Given the description of an element on the screen output the (x, y) to click on. 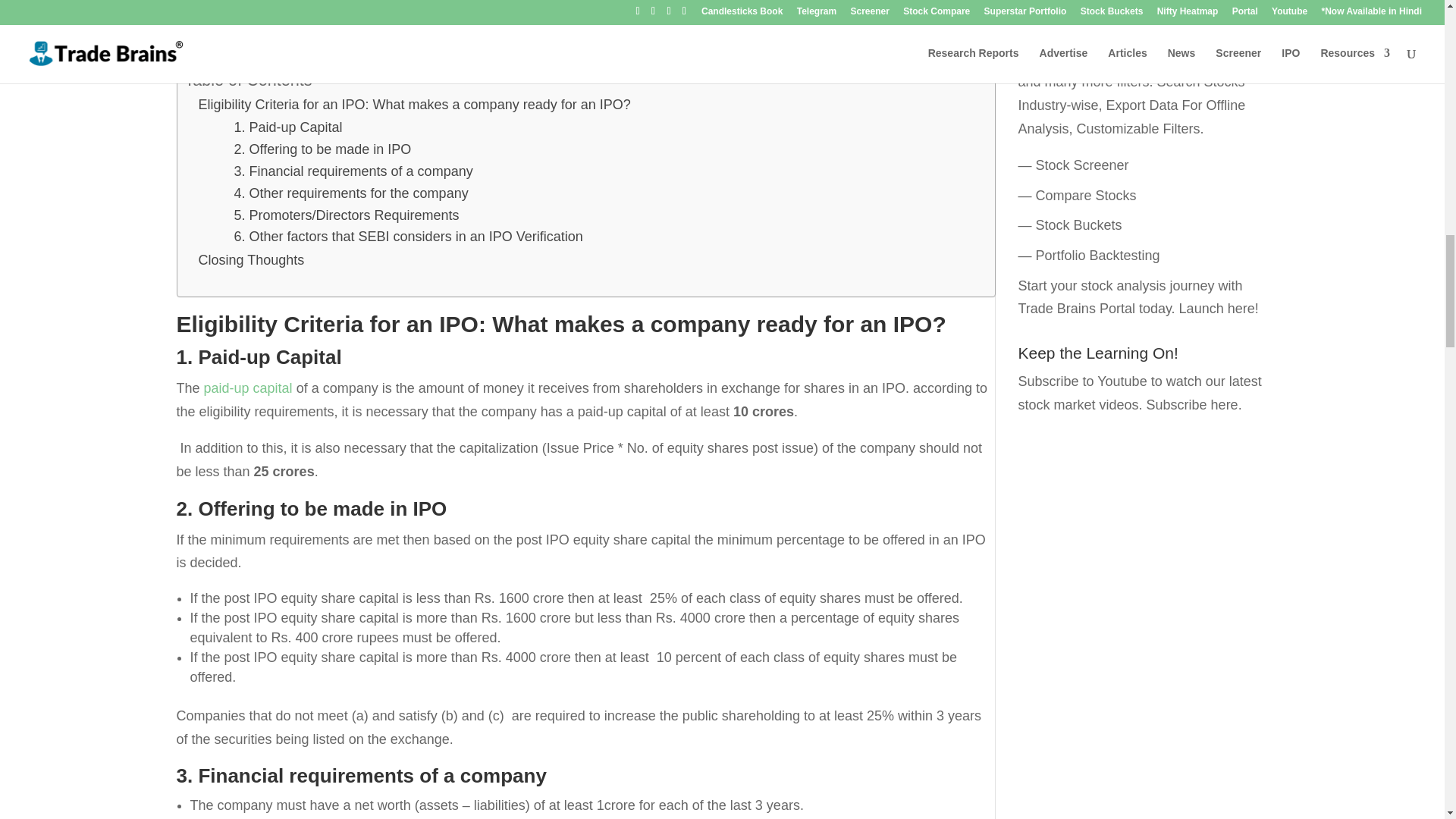
Closing Thoughts  (251, 260)
6. Other factors that SEBI considers in an IPO Verification  (407, 237)
1. Paid-up Capital (287, 127)
2. Offering to be made in IPO (321, 149)
4. Other requirements for the company (349, 193)
3. Financial requirements of a company (351, 171)
